Given the description of an element on the screen output the (x, y) to click on. 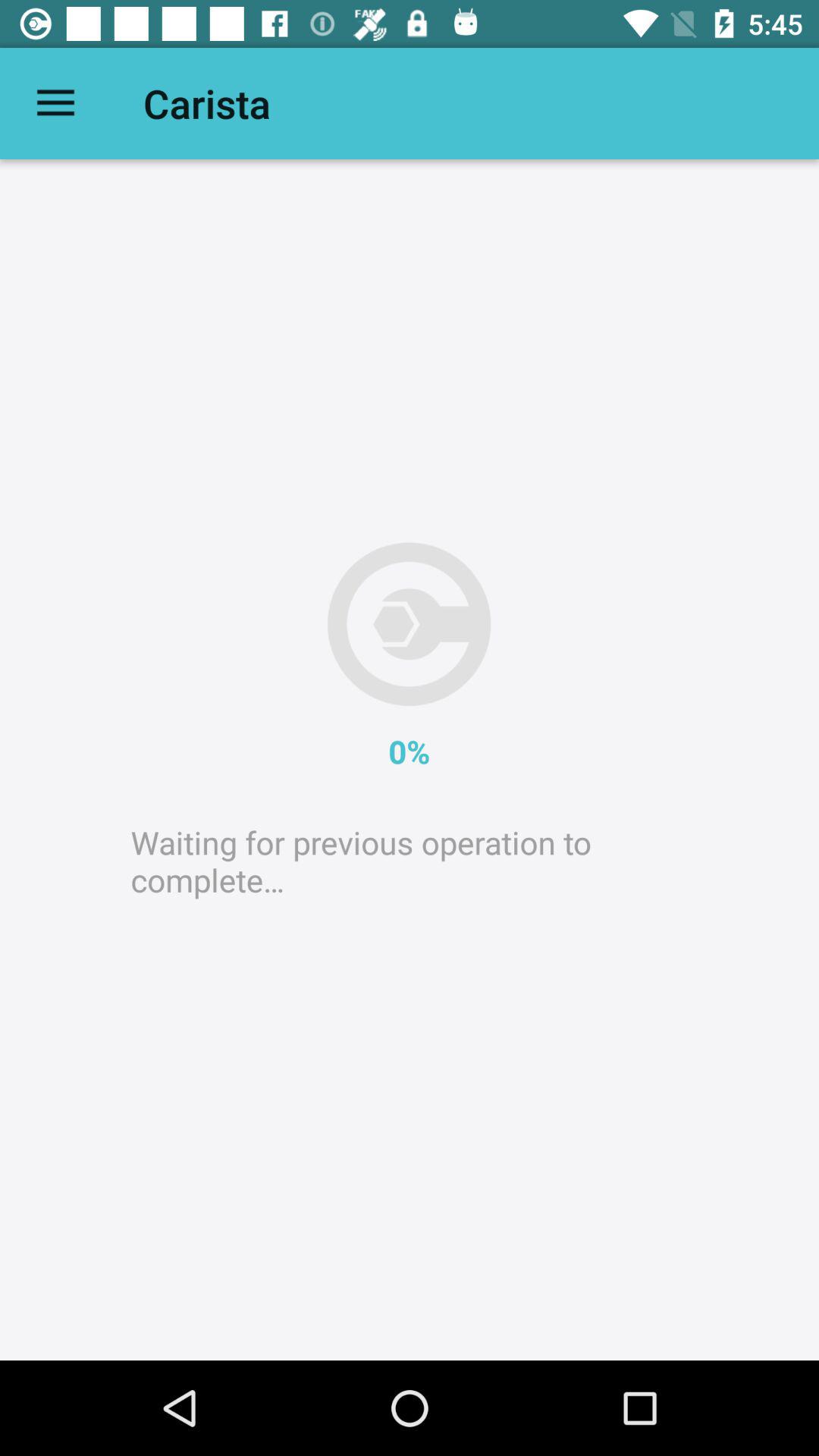
turn off item to the left of carista icon (55, 103)
